Given the description of an element on the screen output the (x, y) to click on. 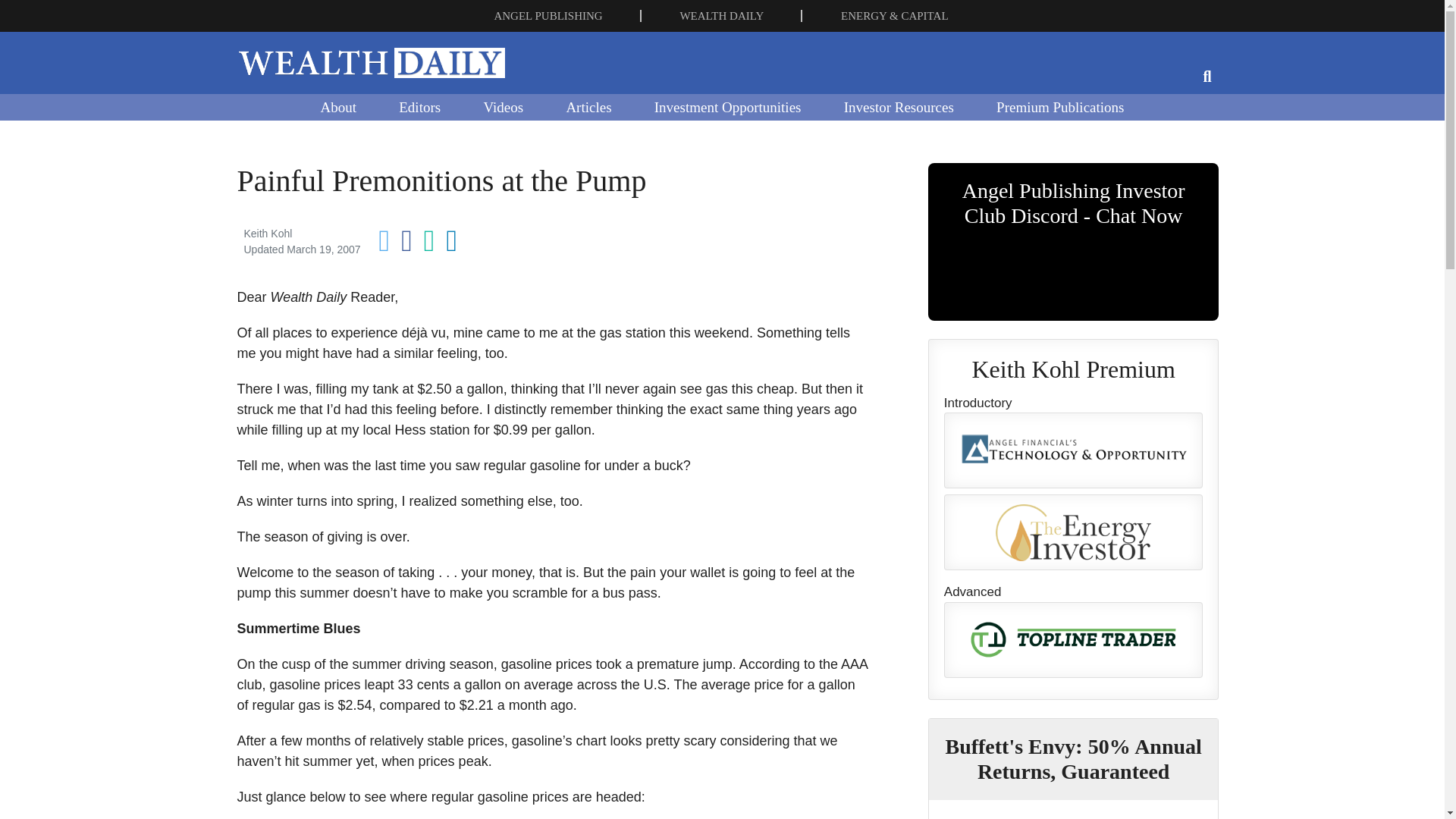
Investment Opportunities (727, 106)
Premium Publications (1059, 106)
About (337, 106)
WEALTH DAILY (720, 15)
Angel Publishing Investor Club Discord - Chat Now (1074, 241)
ANGEL PUBLISHING (547, 15)
Editors (419, 106)
Articles (587, 106)
Videos (502, 106)
Investor Resources (898, 106)
